Given the description of an element on the screen output the (x, y) to click on. 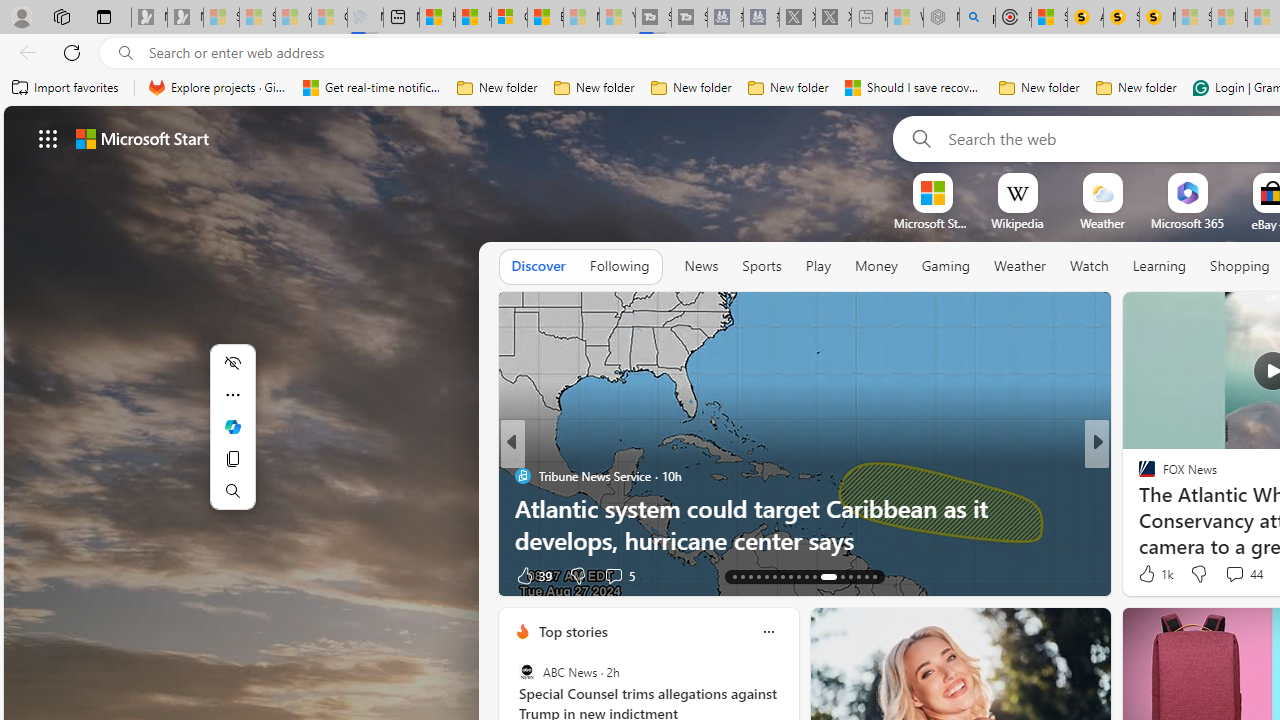
1k Like (1154, 574)
Top stories (572, 631)
View comments 44 Comment (1234, 573)
App launcher (47, 138)
View comments 4 Comment (613, 575)
AutomationID: tab-21 (797, 576)
Wildlife - MSN - Sleeping (905, 17)
